Given the description of an element on the screen output the (x, y) to click on. 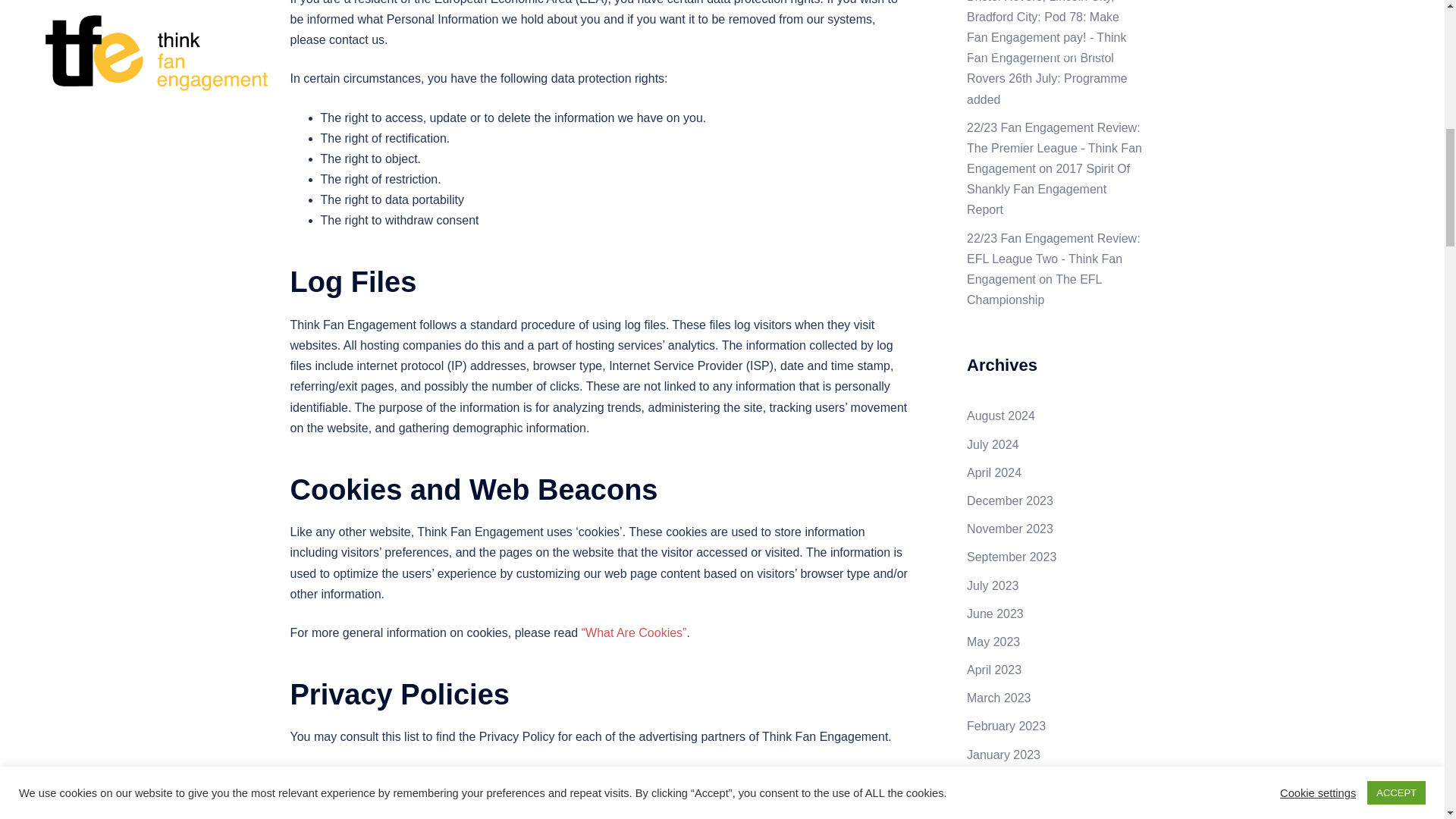
December 2023 (1009, 500)
June 2023 (994, 613)
November 2023 (1009, 528)
September 2023 (1011, 556)
August 2024 (1000, 415)
July 2024 (992, 444)
April 2024 (994, 472)
Bristol Rovers 26th July: Programme added (1046, 78)
The EFL Championship (1034, 289)
